Given the description of an element on the screen output the (x, y) to click on. 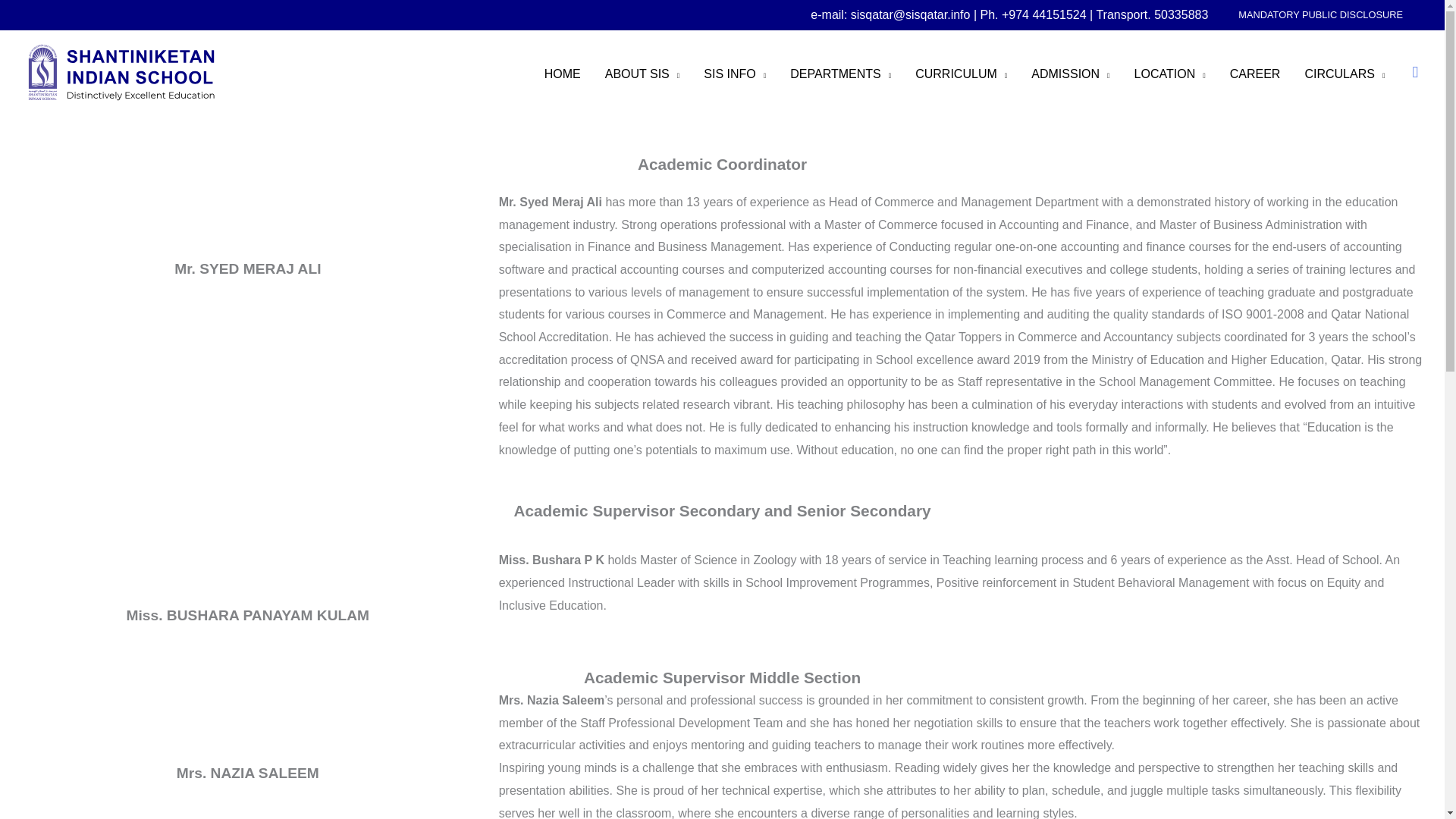
DEPARTMENTS (839, 74)
SIS INFO (734, 74)
HOME (562, 74)
CURRICULUM (960, 74)
MANDATORY PUBLIC DISCLOSURE (1320, 15)
1997 (1169, 74)
ABOUT SIS (642, 74)
